Given the description of an element on the screen output the (x, y) to click on. 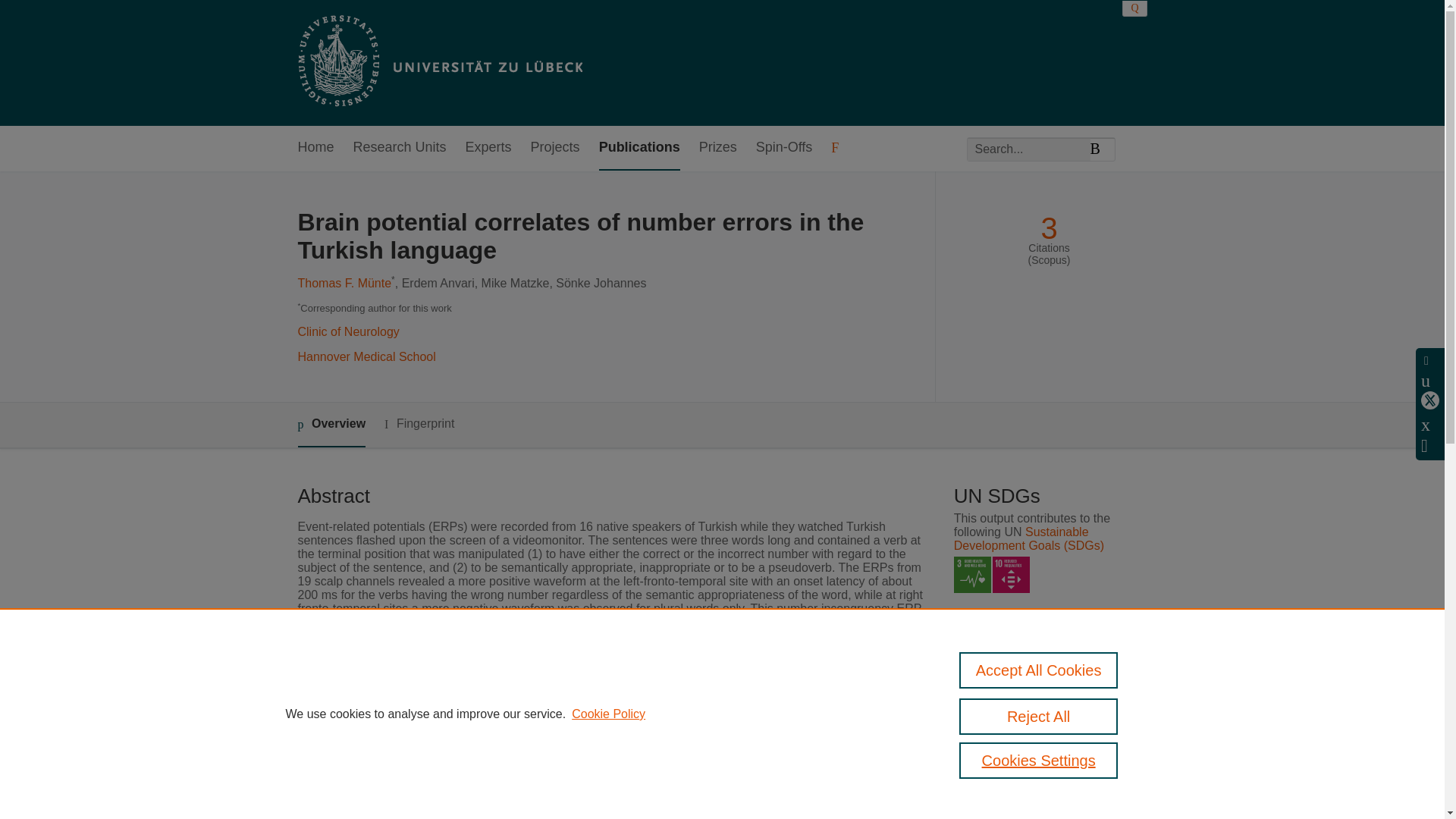
SDG 3 - Good Health and Well-being (972, 574)
SDG 10 - Reduced Inequalities (1010, 574)
Research Units (399, 148)
Publications (638, 148)
Projects (555, 148)
Clinic of Neurology (347, 331)
Link to publication in Scopus (1045, 698)
Spin-Offs (783, 148)
University of Luebeck Home (438, 62)
